Given the description of an element on the screen output the (x, y) to click on. 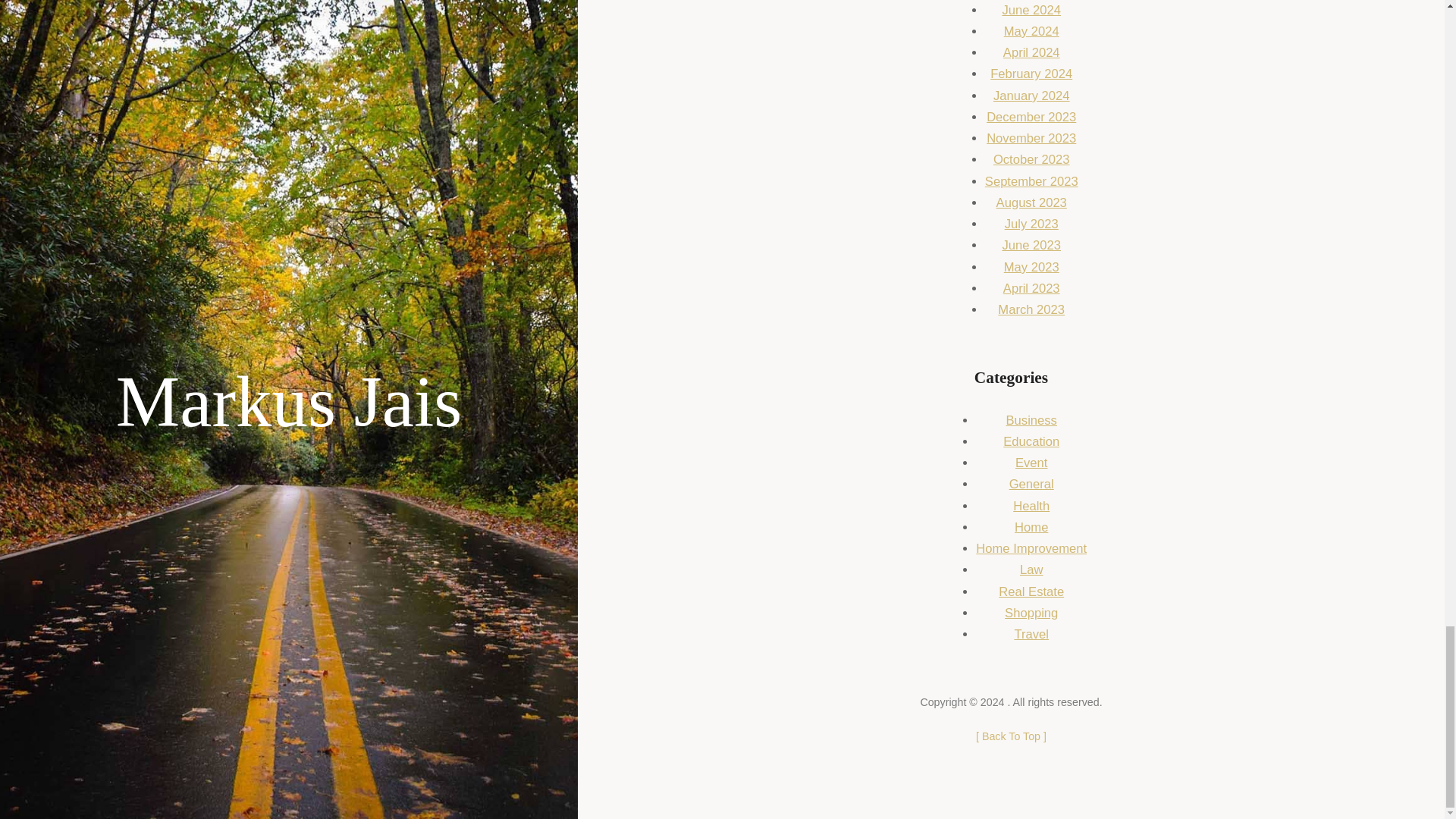
June 2024 (1031, 10)
May 2024 (1031, 31)
June 2023 (1031, 245)
February 2024 (1030, 73)
January 2024 (1031, 95)
General (1031, 483)
April 2023 (1031, 288)
December 2023 (1031, 116)
Event (1030, 462)
Home Improvement (1030, 548)
October 2023 (1031, 159)
July 2023 (1031, 223)
Health (1031, 505)
Law (1031, 569)
Shopping (1031, 612)
